Given the description of an element on the screen output the (x, y) to click on. 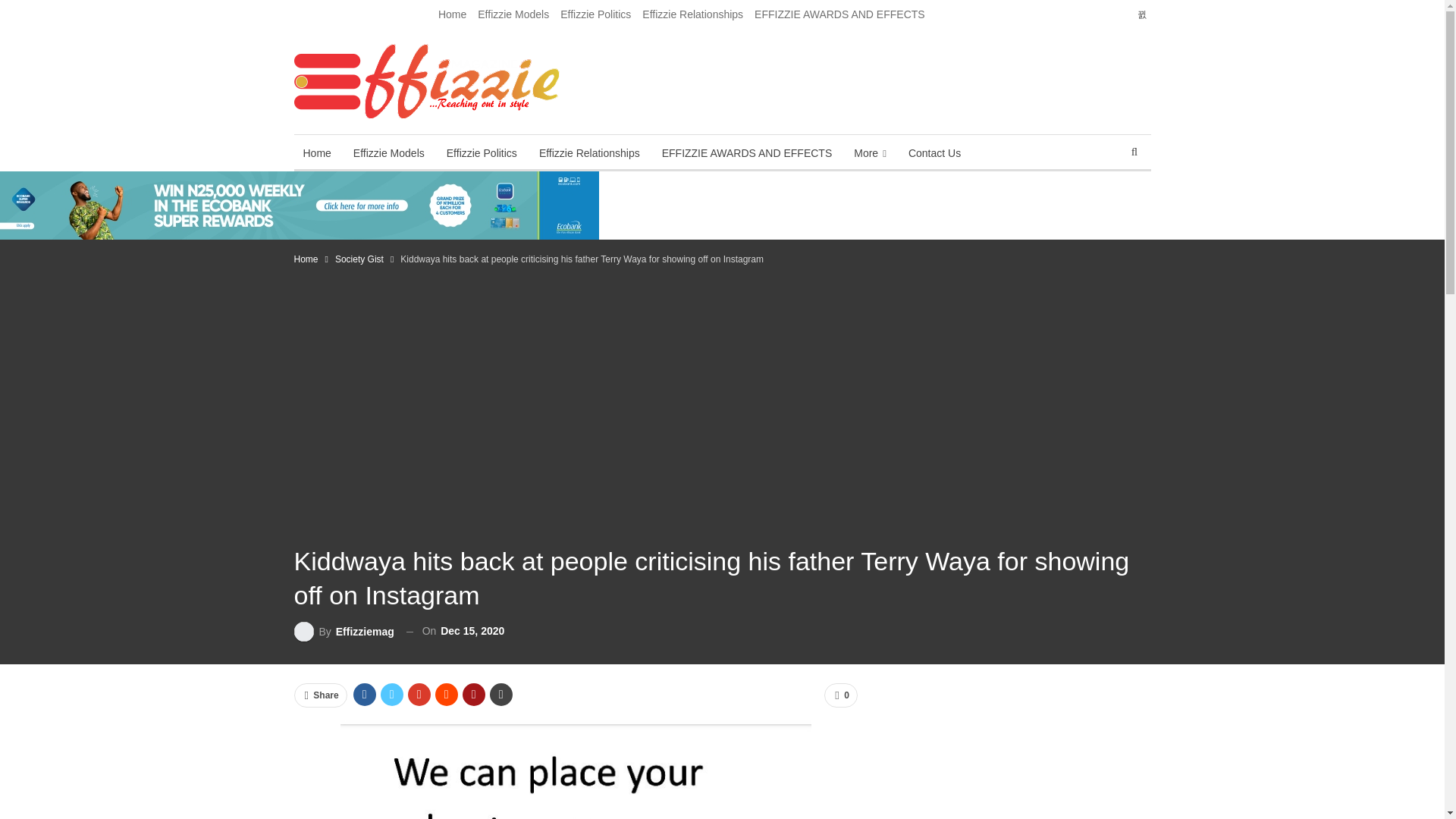
Contact Us (934, 153)
More (869, 153)
Society Gist (299, 525)
Effizzie Models (512, 14)
Home (306, 258)
By Effizziemag (344, 630)
Society Gist (359, 258)
More (310, 33)
Contact Us (363, 33)
Effizzie Politics (481, 153)
